Given the description of an element on the screen output the (x, y) to click on. 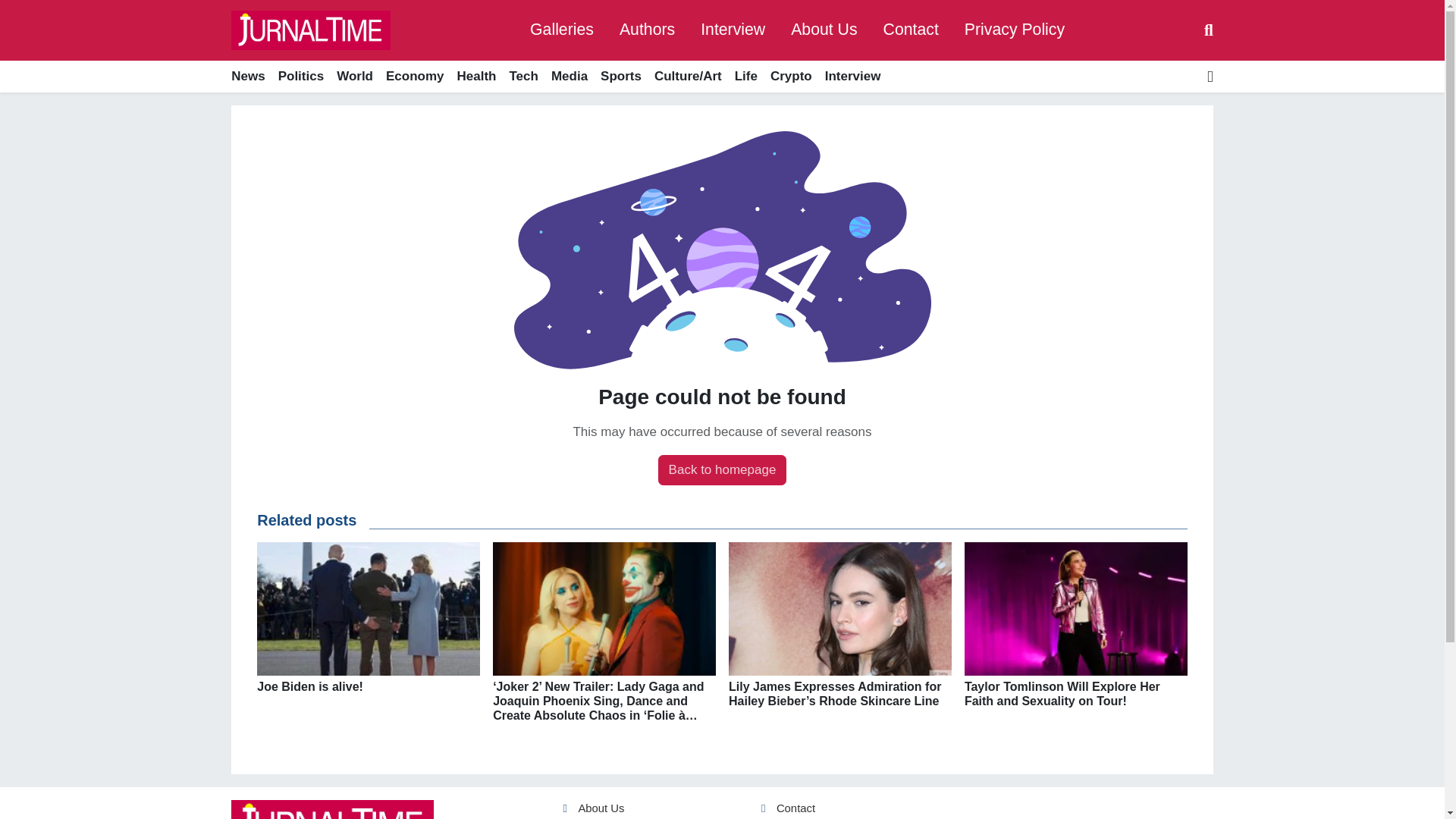
Health (475, 76)
News (250, 76)
Galleries (561, 29)
News (250, 76)
Privacy Policy (1014, 29)
World (355, 76)
World (355, 76)
Sports (620, 76)
Jurnal Time (310, 29)
Sports (620, 76)
Authors (647, 29)
Media (569, 76)
Economy (413, 76)
Interview (732, 29)
Tech (523, 76)
